Given the description of an element on the screen output the (x, y) to click on. 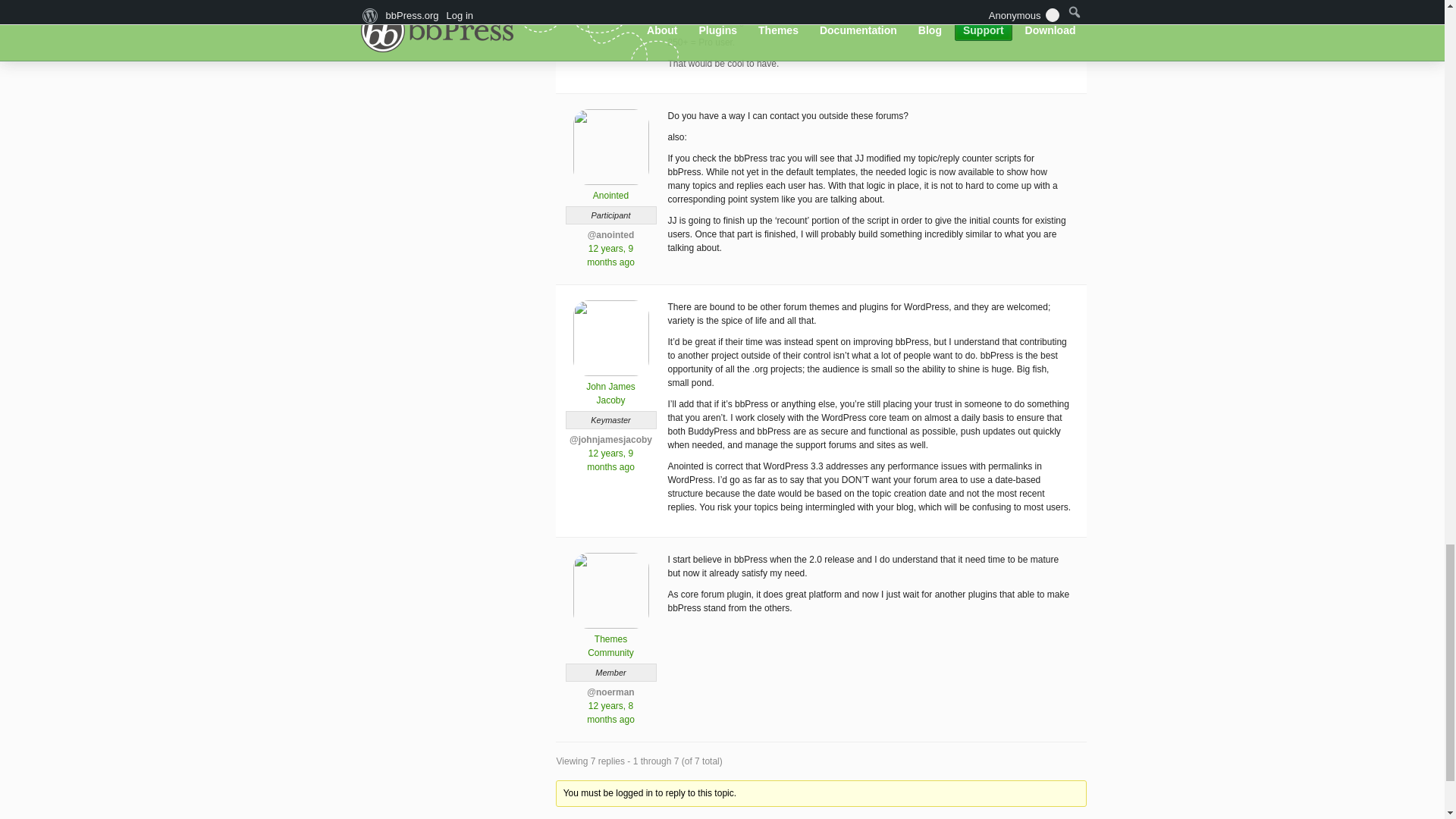
12 years, 9 months ago (610, 459)
Anointed (609, 189)
John James Jacoby (609, 387)
Themes Community (609, 639)
12 years, 9 months ago (610, 255)
12 years, 8 months ago (610, 712)
